Given the description of an element on the screen output the (x, y) to click on. 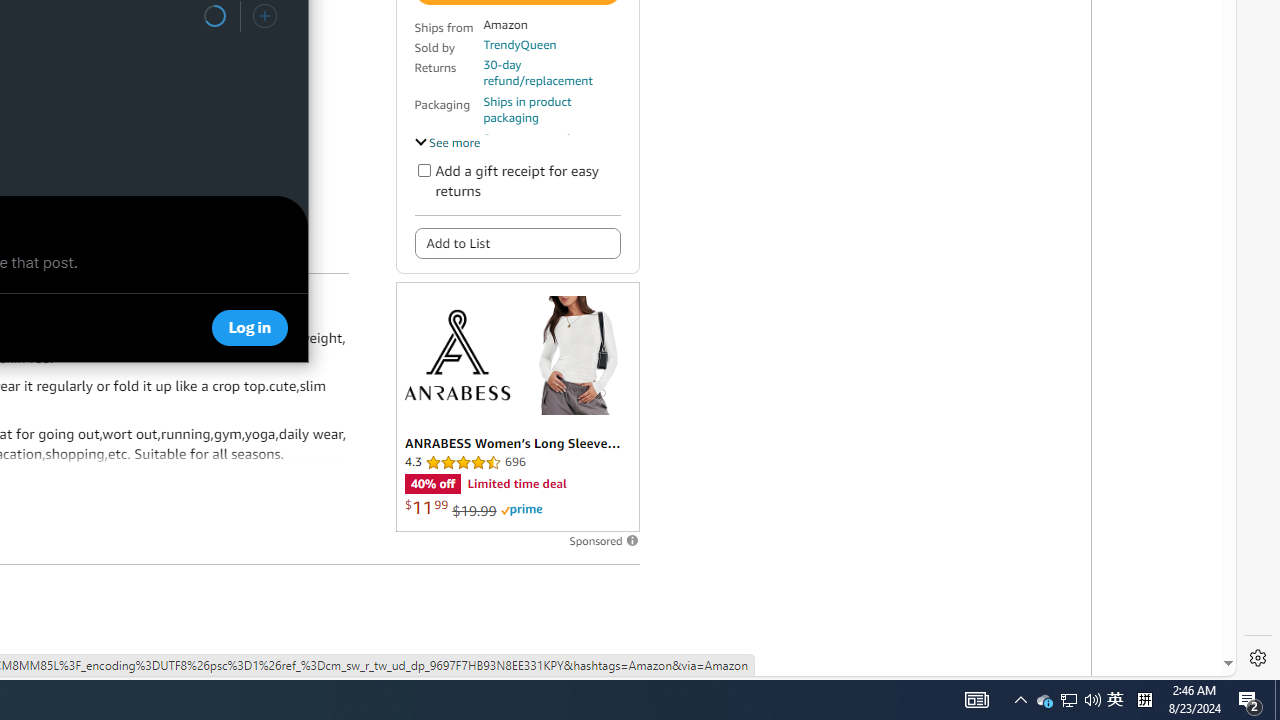
AutomationID: 4105 (976, 699)
Q2790: 100% (1092, 699)
Notification Chevron (1020, 699)
Tray Input Indicator - Chinese (Simplified, China) (1069, 699)
30-day refund/replacement (1044, 699)
Action Center, 2 new notifications (1144, 699)
Add to List (1115, 699)
Sponsored ad (551, 72)
Show desktop (1250, 699)
Logo (516, 242)
